Given the description of an element on the screen output the (x, y) to click on. 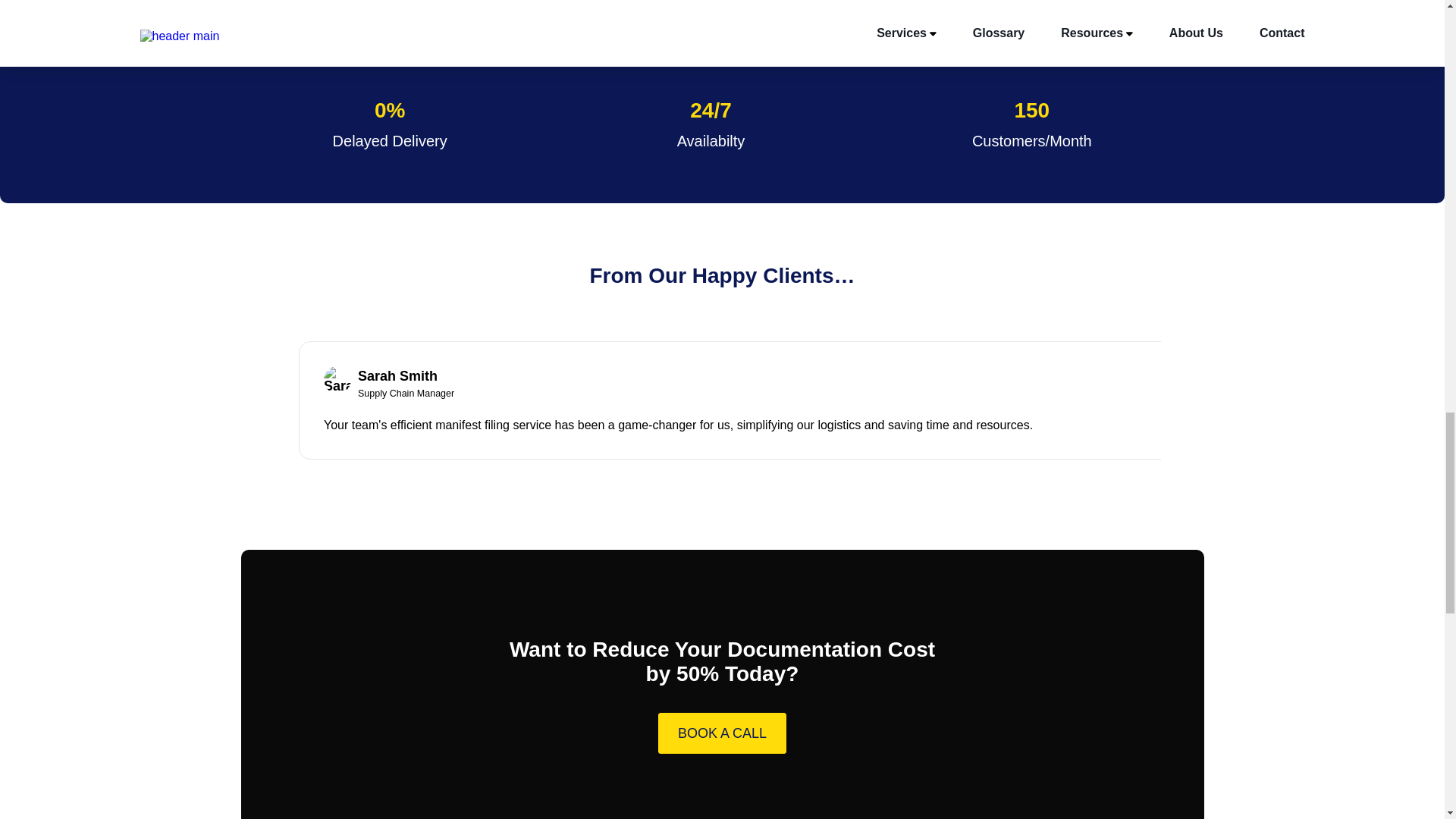
BOOK A CALL (722, 732)
